Given the description of an element on the screen output the (x, y) to click on. 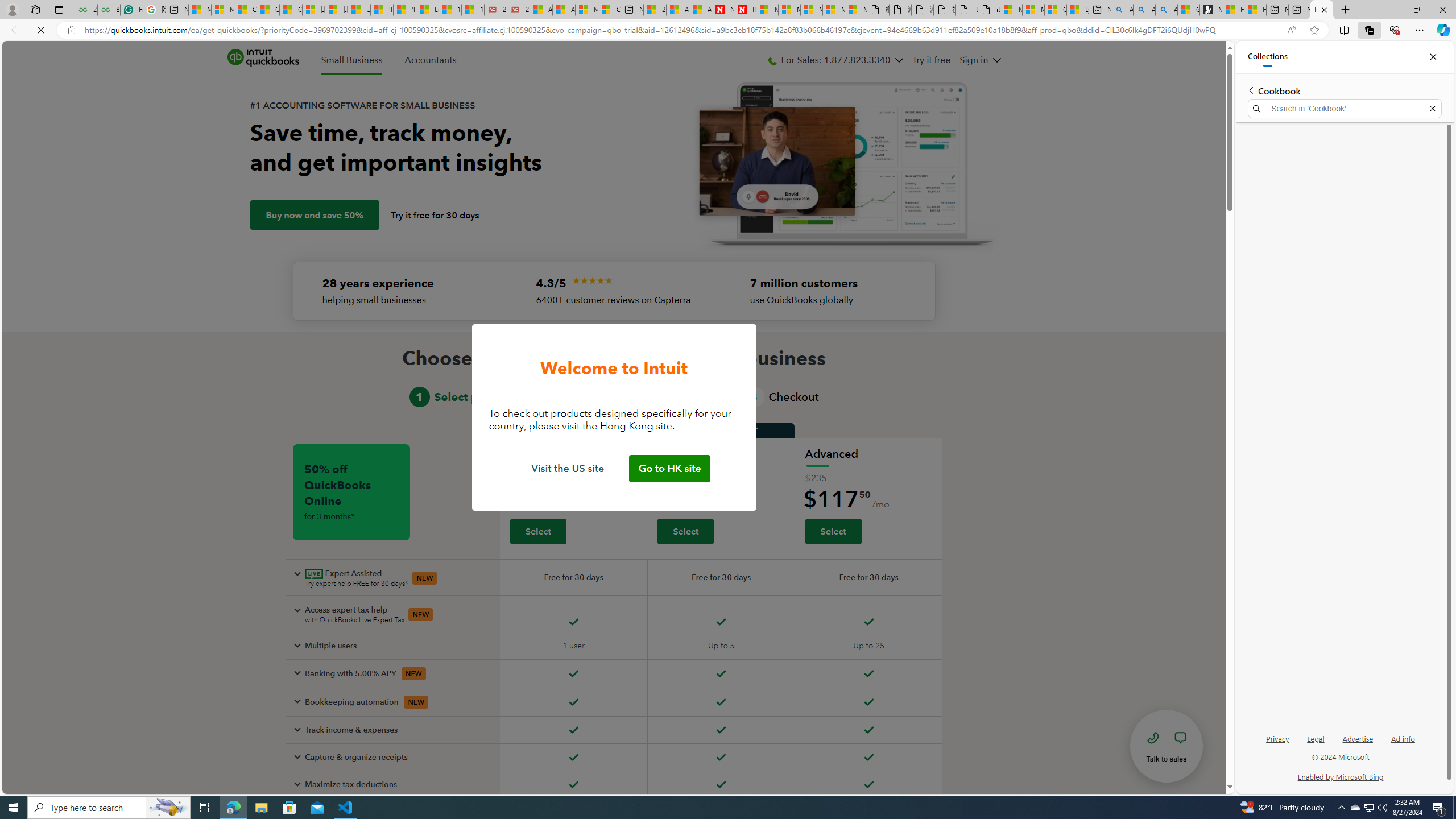
Accountants (430, 60)
Accountants (430, 60)
Class: MenuItem_dDown__f585abf6 MenuItem_white__f585abf6 (996, 60)
USA TODAY - MSN (359, 9)
Lifestyle - MSN (427, 9)
itconcepthk.com/projector_solutions.mp4 (988, 9)
talk to sales (1165, 746)
Select plus (686, 531)
